Given the description of an element on the screen output the (x, y) to click on. 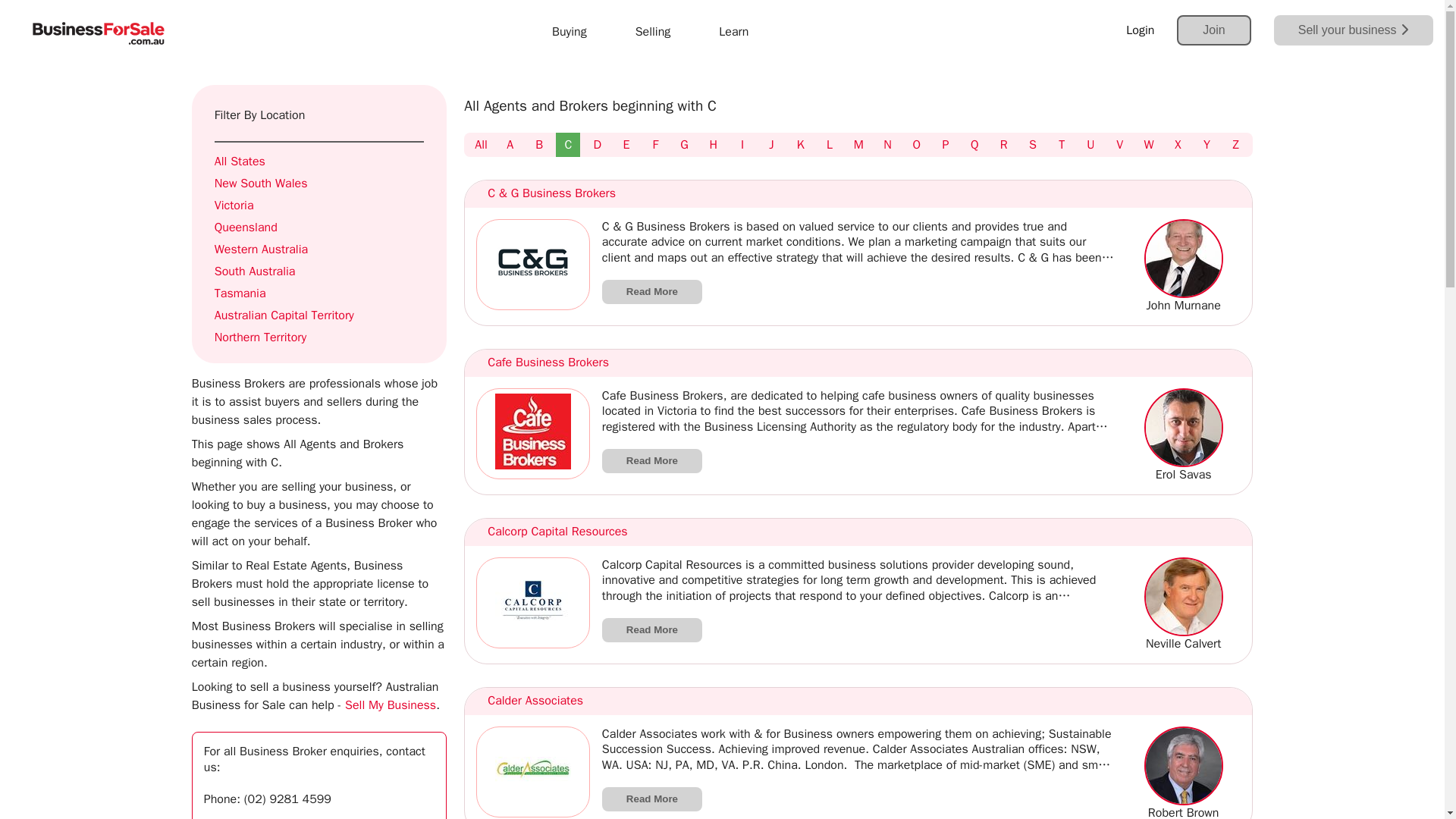
Victoria (318, 205)
All States (318, 161)
New South Wales (318, 183)
Join (1213, 30)
A (509, 143)
Australian Capital Territory (318, 315)
Login (1139, 30)
Sell My Business (390, 704)
Tasmania (318, 293)
Northern Territory (318, 337)
Queensland (318, 227)
All (480, 143)
Sell your business (1353, 30)
Search for all businesses for sale (390, 704)
South Australia (318, 271)
